Given the description of an element on the screen output the (x, y) to click on. 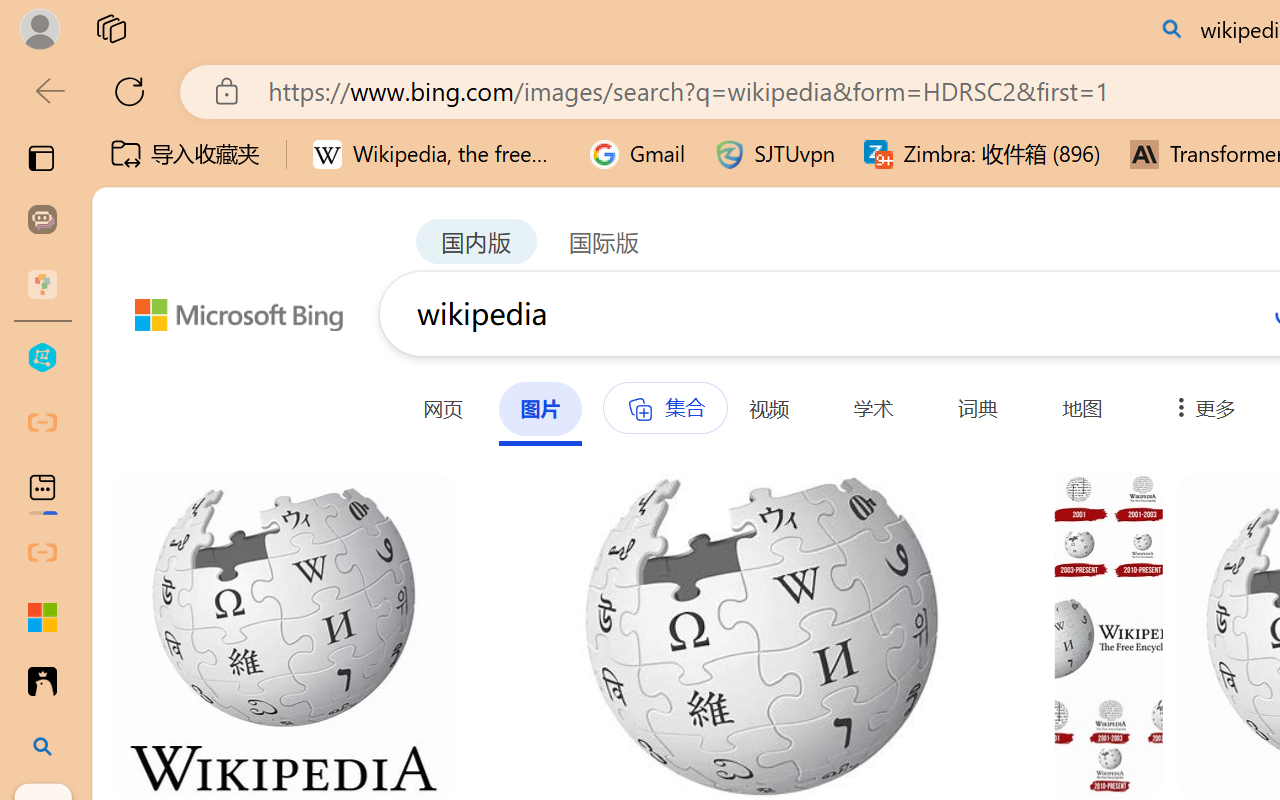
wangyian_dsw - DSW (42, 357)
